Given the description of an element on the screen output the (x, y) to click on. 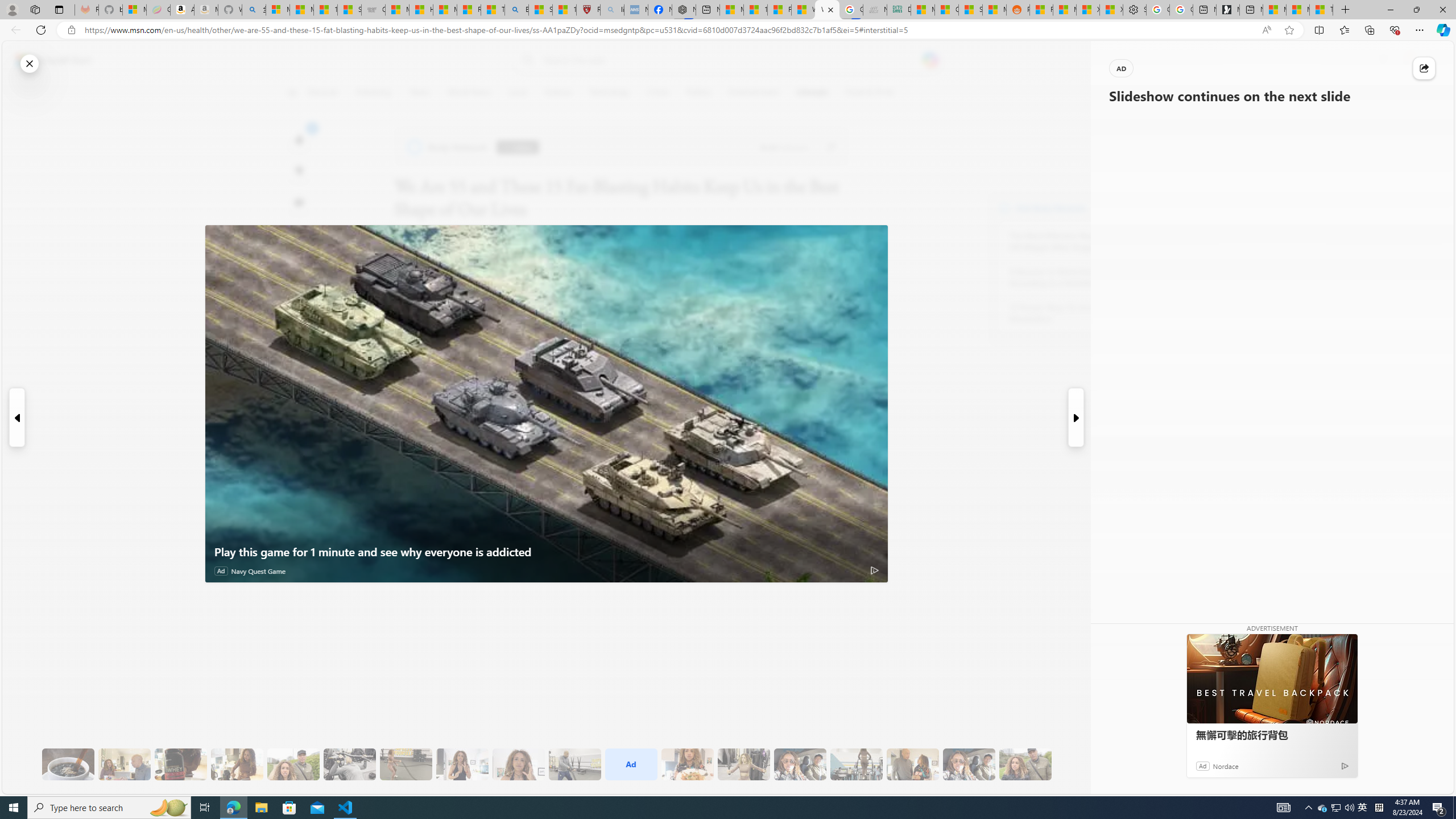
6 Like (299, 138)
18 It's More Fun Doing It with Someone Else (912, 764)
Navy Quest Game (258, 570)
9 They Do Bench Exercises (349, 764)
20 Overall, It Will Improve Your Health (1024, 764)
